Given the description of an element on the screen output the (x, y) to click on. 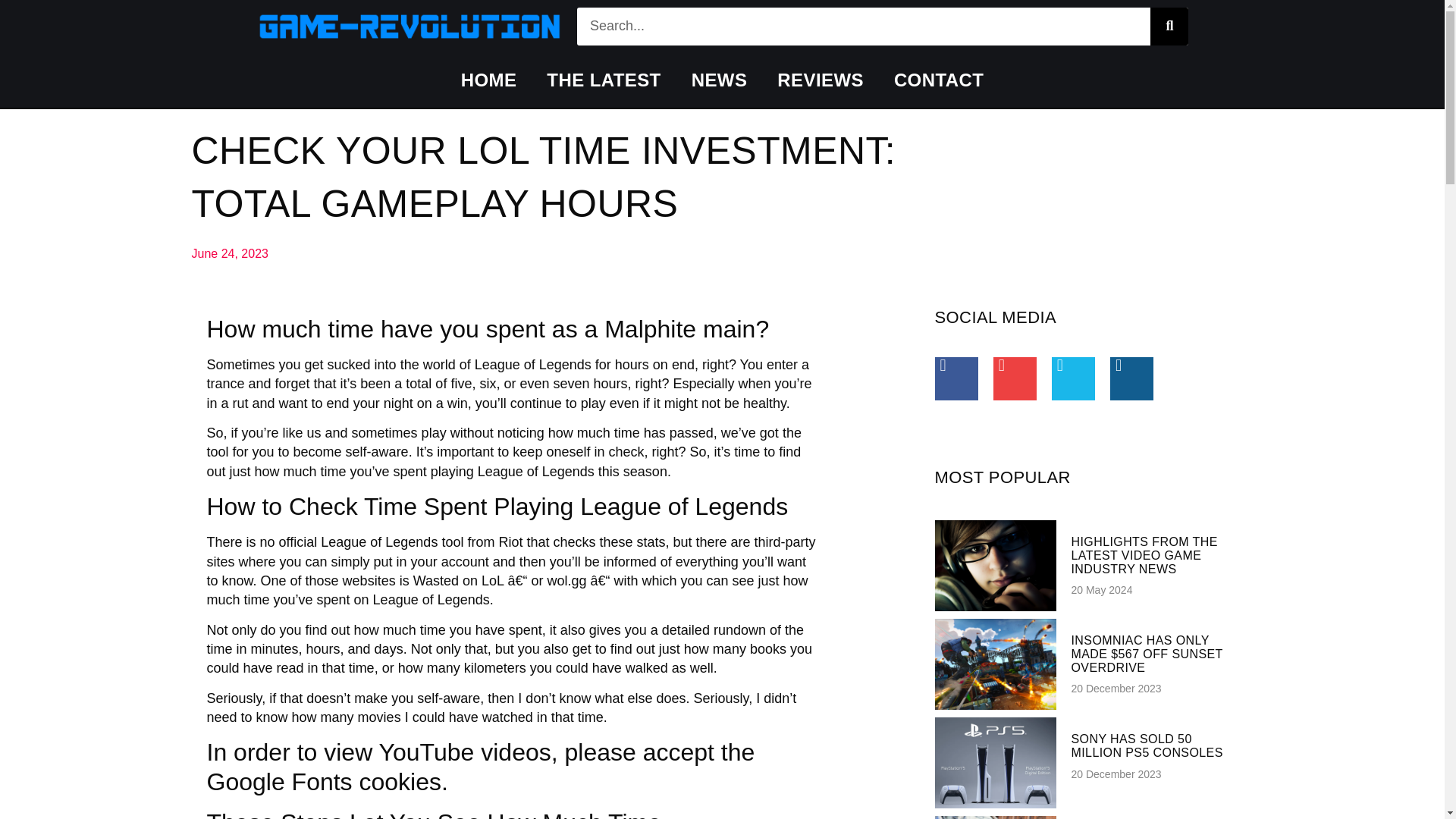
SONY HAS SOLD 50 MILLION PS5 CONSOLES (1146, 745)
Game Revolution Logo (409, 26)
CONTACT (938, 79)
THE LATEST (603, 79)
HIGHLIGHTS FROM THE LATEST VIDEO GAME INDUSTRY NEWS (1143, 554)
NEWS (719, 79)
HOME (488, 79)
June 24, 2023 (228, 253)
REVIEWS (820, 79)
